Given the description of an element on the screen output the (x, y) to click on. 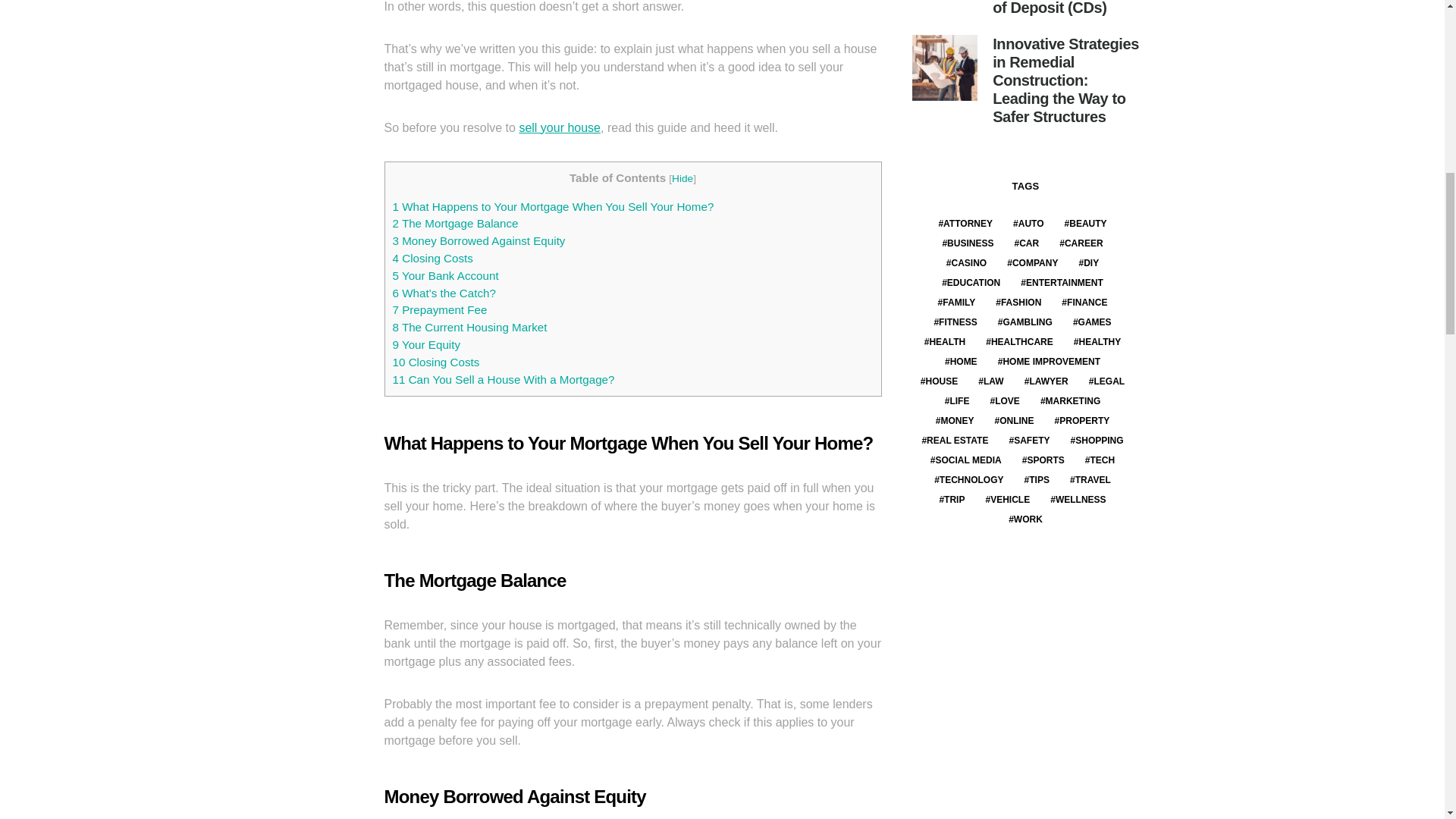
10 Closing Costs (436, 361)
9 Your Equity (427, 344)
11 Can You Sell a House With a Mortgage? (503, 379)
Hide (682, 178)
3 Money Borrowed Against Equity (479, 240)
2 The Mortgage Balance (455, 223)
1 What Happens to Your Mortgage When You Sell Your Home? (553, 205)
8 The Current Housing Market (470, 327)
4 Closing Costs (433, 257)
sell your house (558, 127)
